Given the description of an element on the screen output the (x, y) to click on. 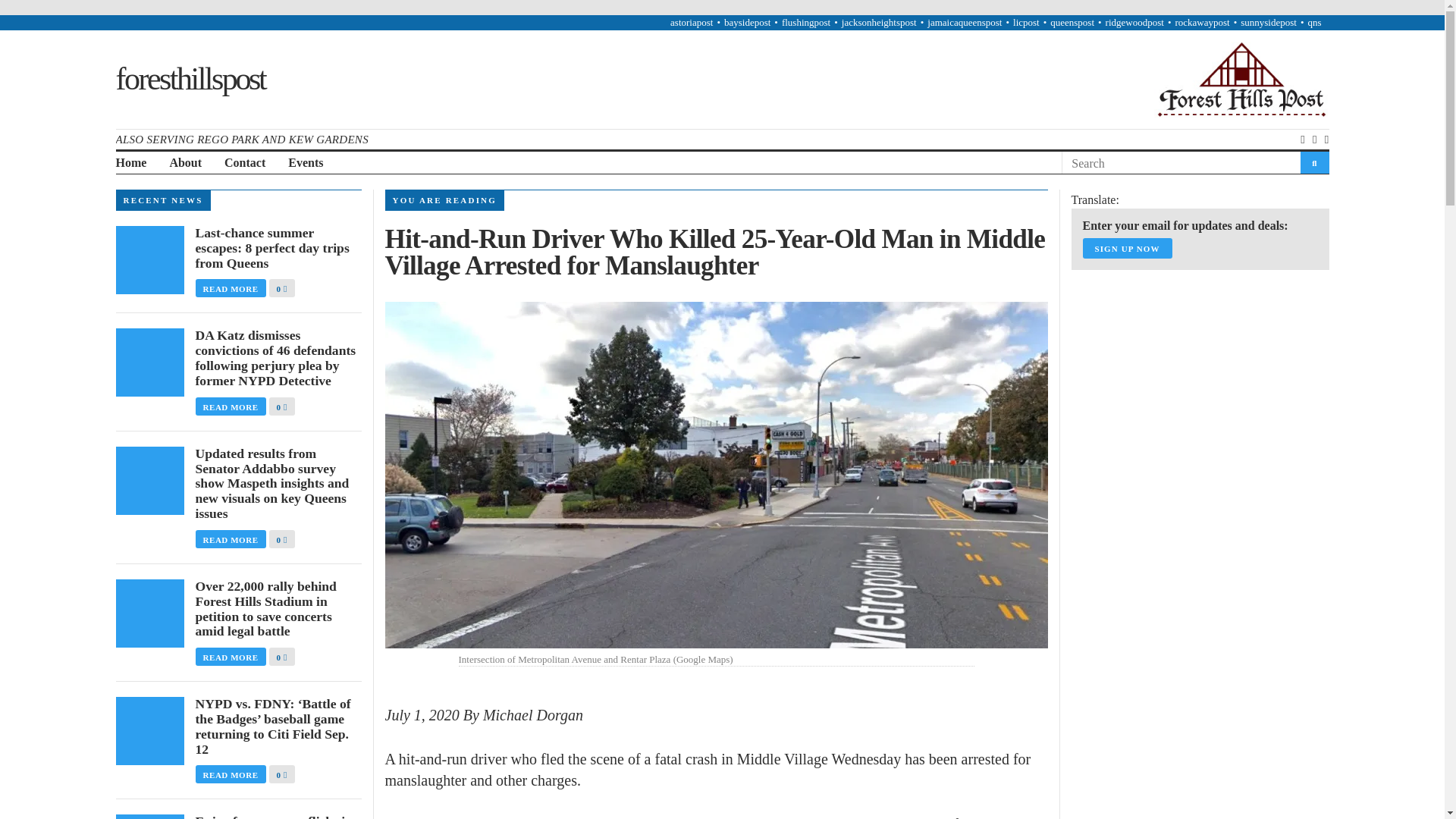
sunnysidepost (1268, 21)
Contact (244, 163)
About (185, 163)
foresthillspost (189, 78)
baysidepost (746, 21)
queenspost (1071, 21)
astoriapost (691, 21)
qns (1313, 21)
rockawaypost (1201, 21)
ridgewoodpost (1134, 21)
